Given the description of an element on the screen output the (x, y) to click on. 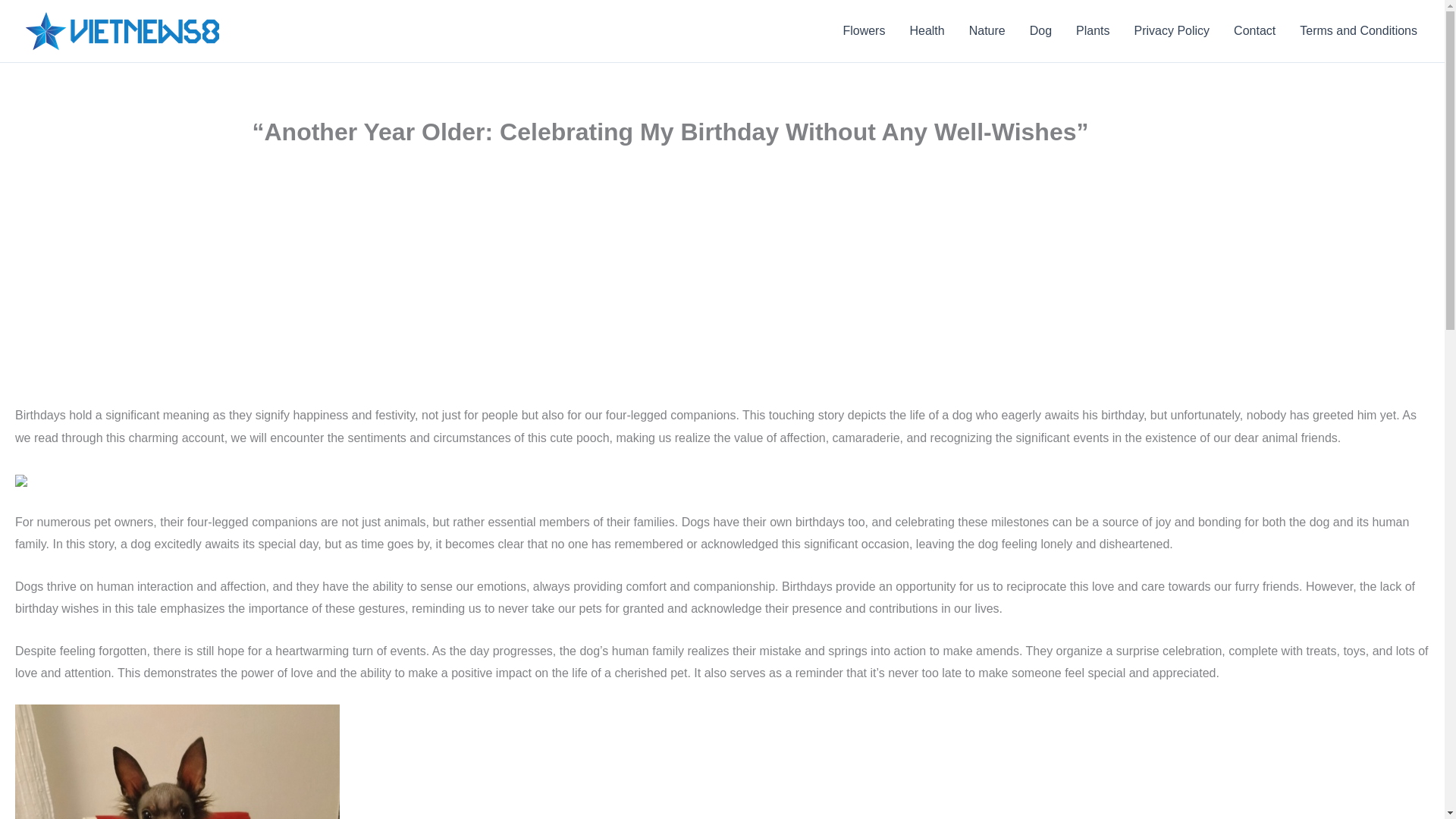
Flowers (862, 30)
Plants (1092, 30)
Privacy Policy (1172, 30)
Terms and Conditions (1358, 30)
Health (926, 30)
Contact (1254, 30)
Nature (986, 30)
